Given the description of an element on the screen output the (x, y) to click on. 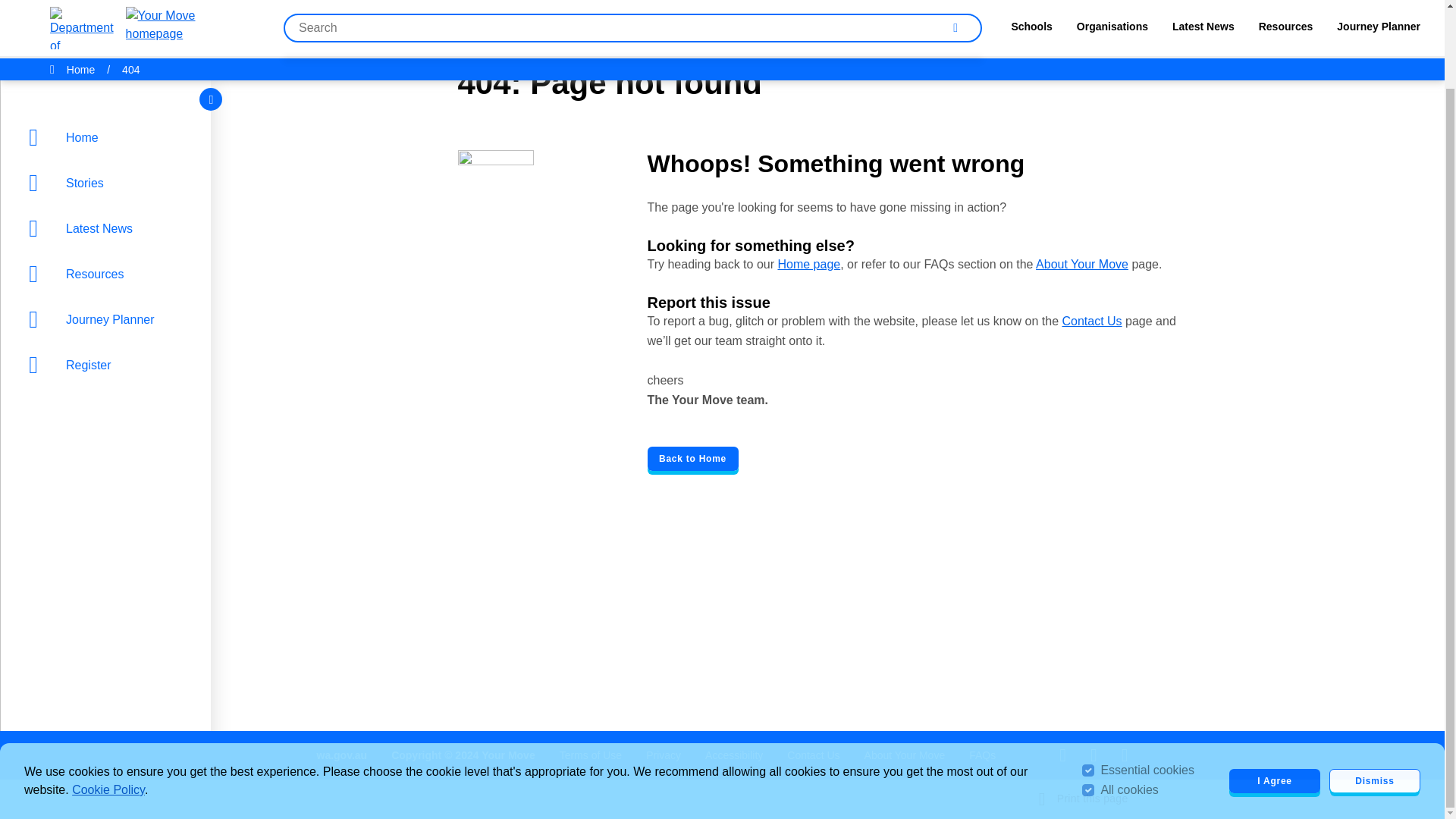
Privacy (663, 755)
Home (109, 48)
Home page (808, 264)
Terms of Use (590, 755)
Journey Planner (109, 231)
About Your Move (1081, 264)
Resources (109, 185)
Stories (109, 94)
Cookie Policy (107, 701)
Register (109, 276)
